Given the description of an element on the screen output the (x, y) to click on. 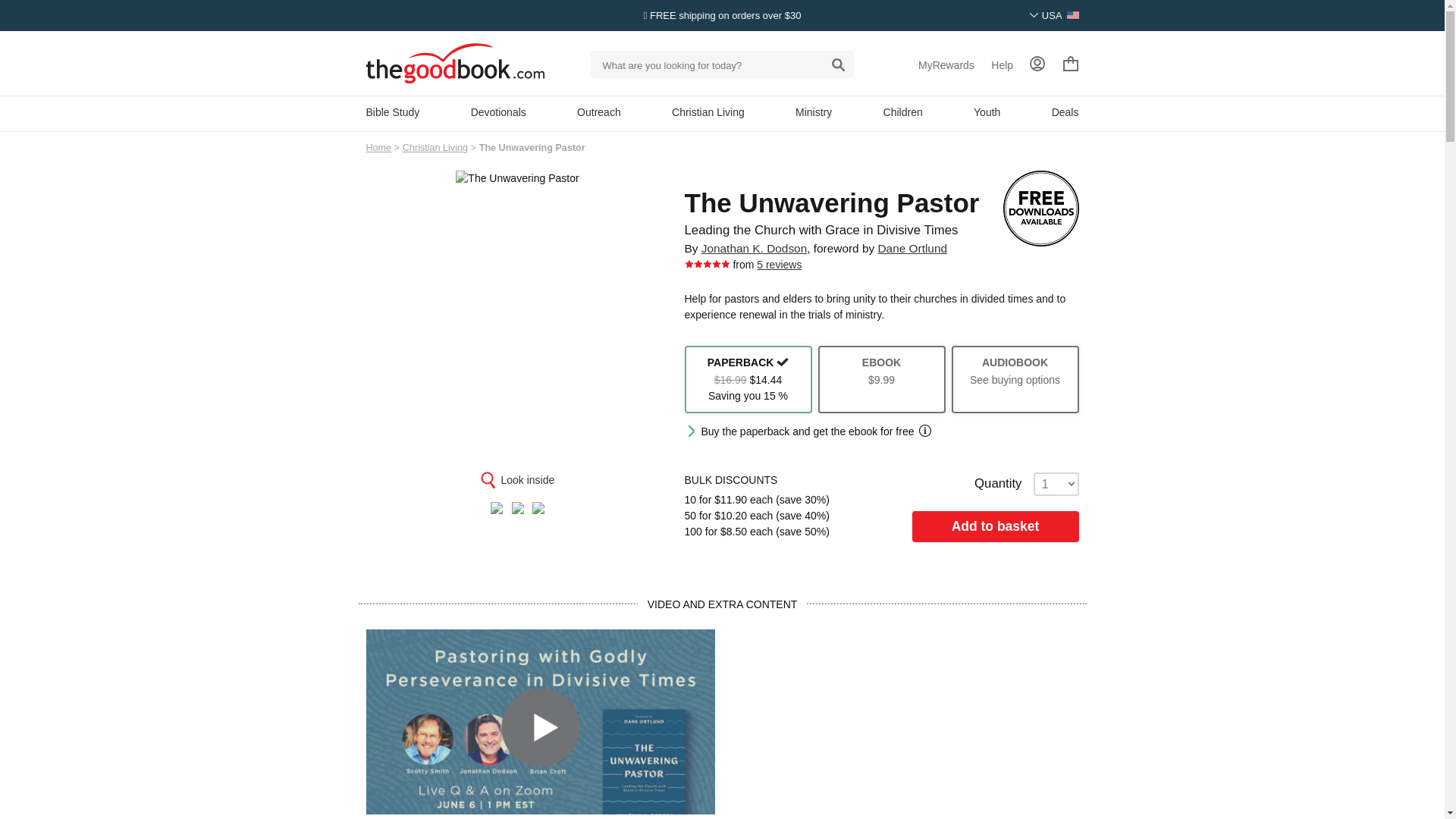
YouTube video player (901, 721)
Devotionals (497, 111)
USA (1053, 14)
MyRewards (946, 65)
Help (1002, 65)
Sign in (1037, 63)
Bible Study (392, 111)
Go to Home Page (378, 147)
